Given the description of an element on the screen output the (x, y) to click on. 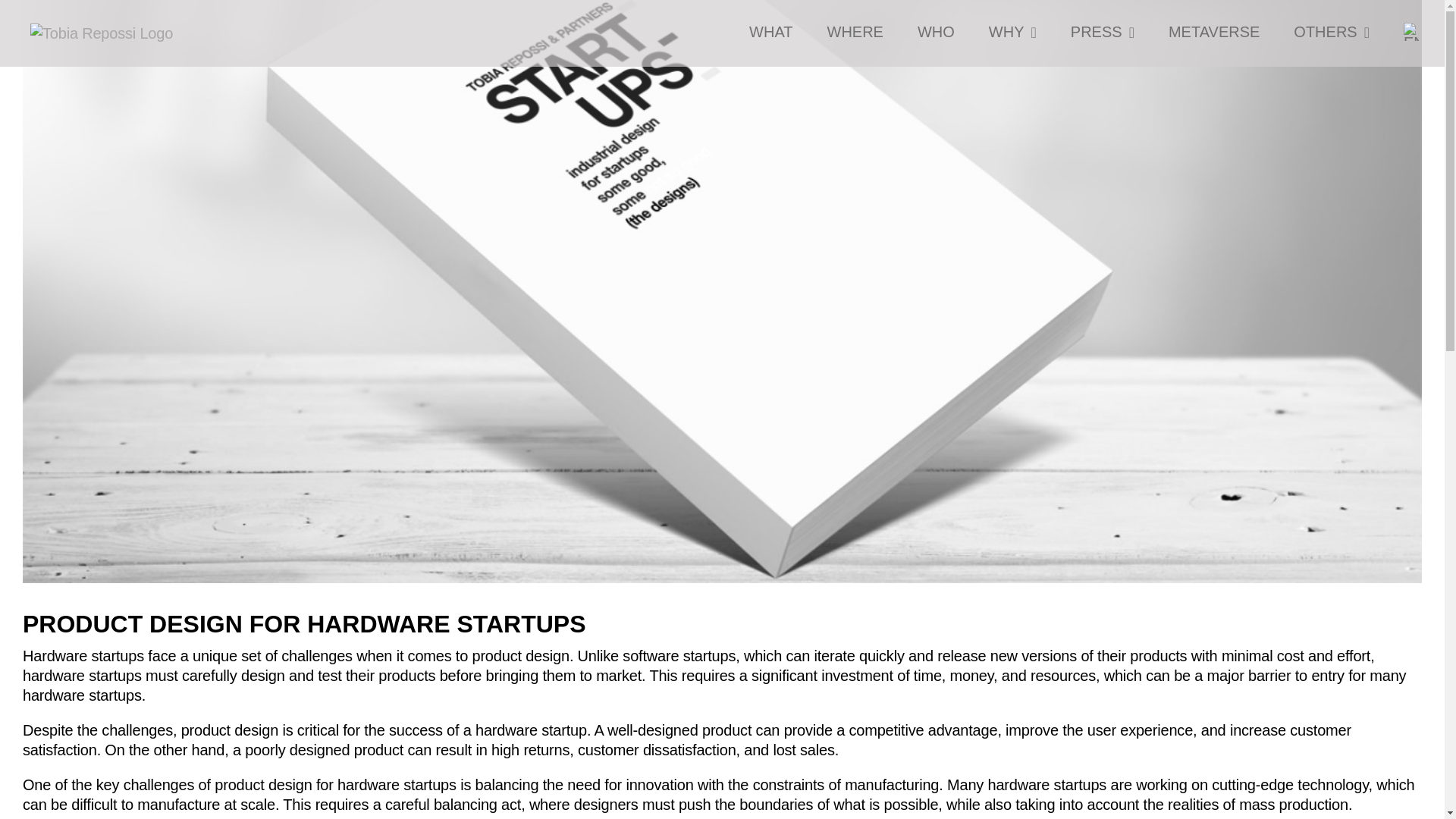
METAVERSE (1214, 31)
OTHERS (1332, 31)
PRESS (1102, 31)
